Given the description of an element on the screen output the (x, y) to click on. 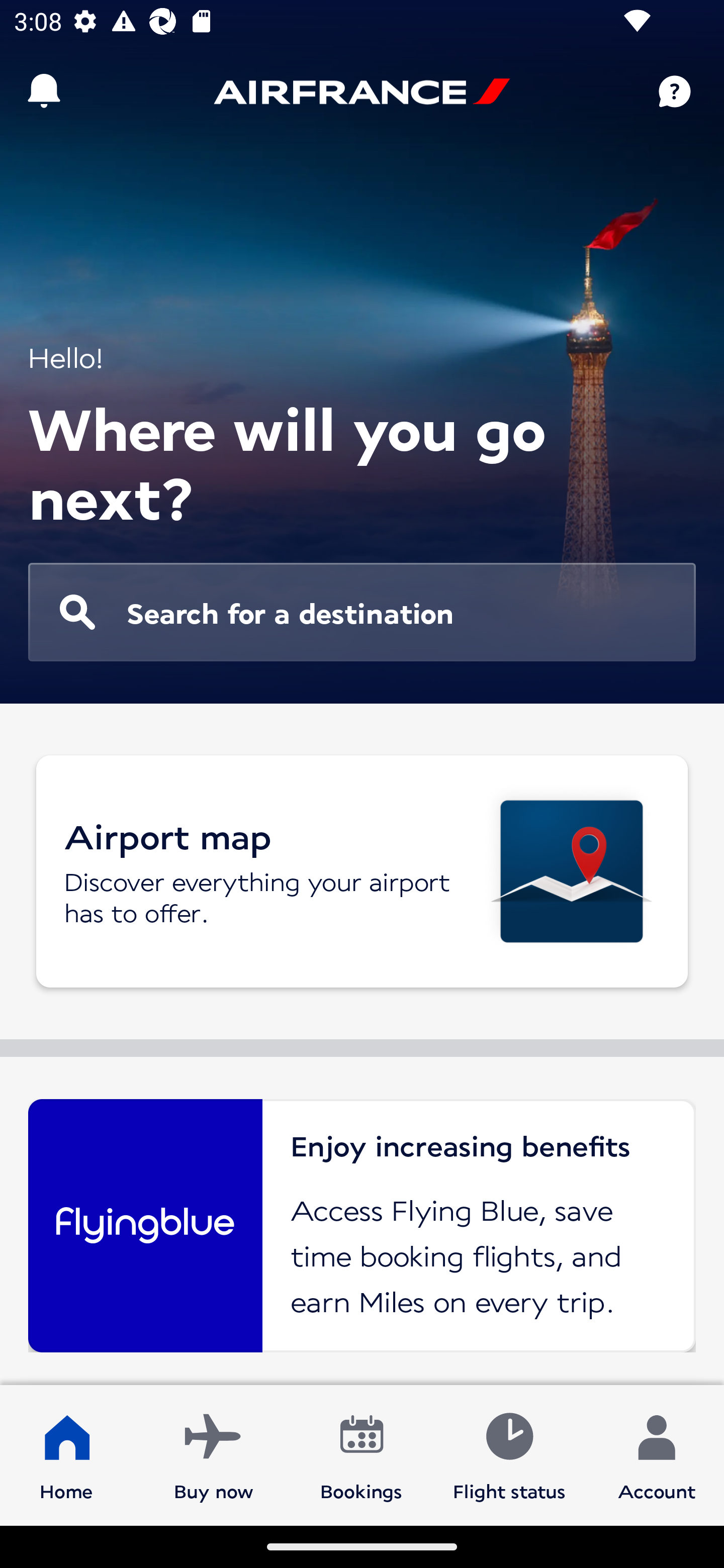
Search for a destination (361, 611)
Buy now (213, 1454)
Bookings (361, 1454)
Flight status (509, 1454)
Account (657, 1454)
